Given the description of an element on the screen output the (x, y) to click on. 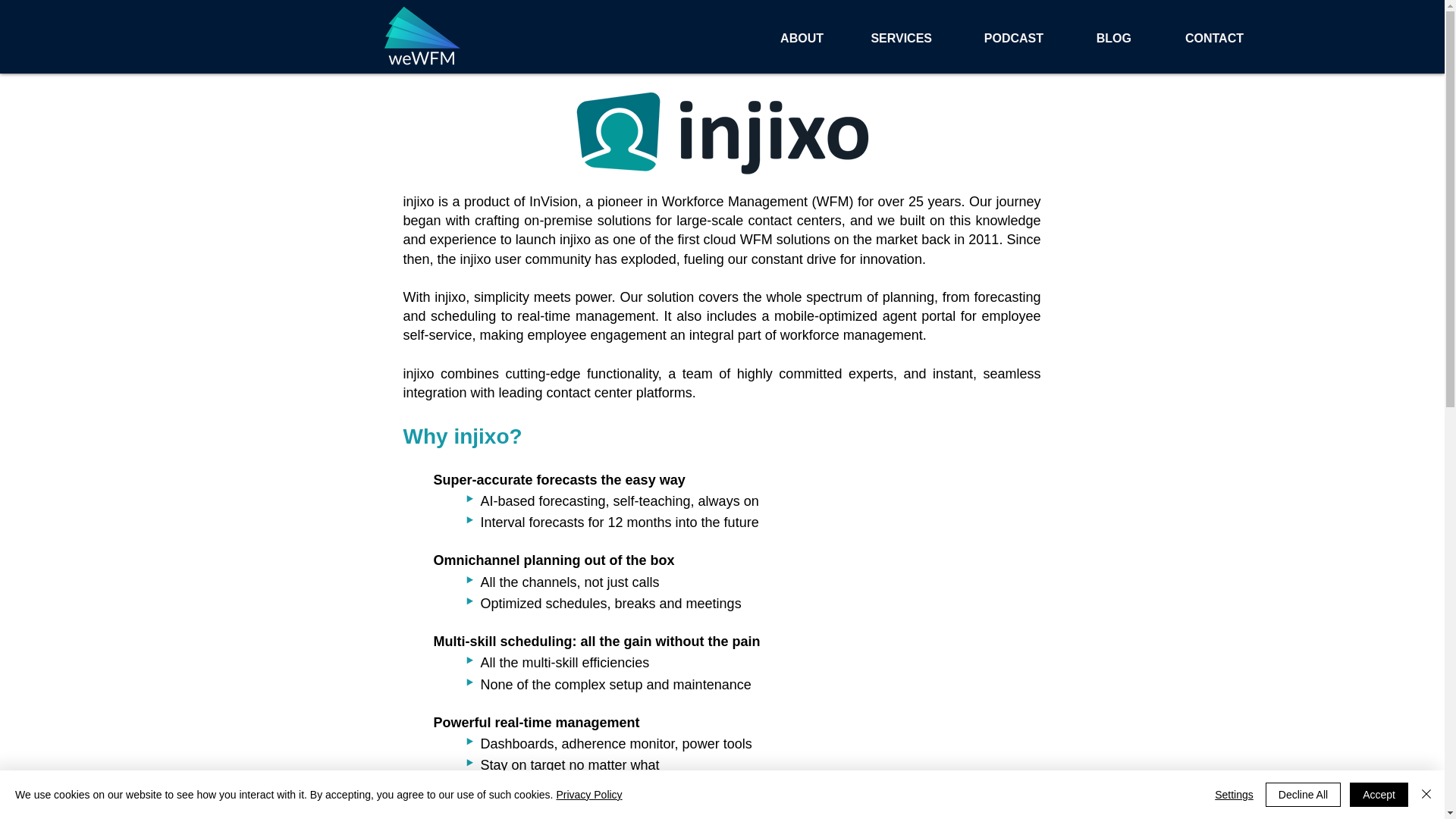
CONTACT (1194, 38)
BLOG (1094, 38)
ABOUT (782, 38)
PODCAST (995, 38)
SERVICES (885, 38)
Eye (421, 38)
Accept (1378, 794)
Decline All (1302, 794)
Privacy Policy (588, 794)
